Given the description of an element on the screen output the (x, y) to click on. 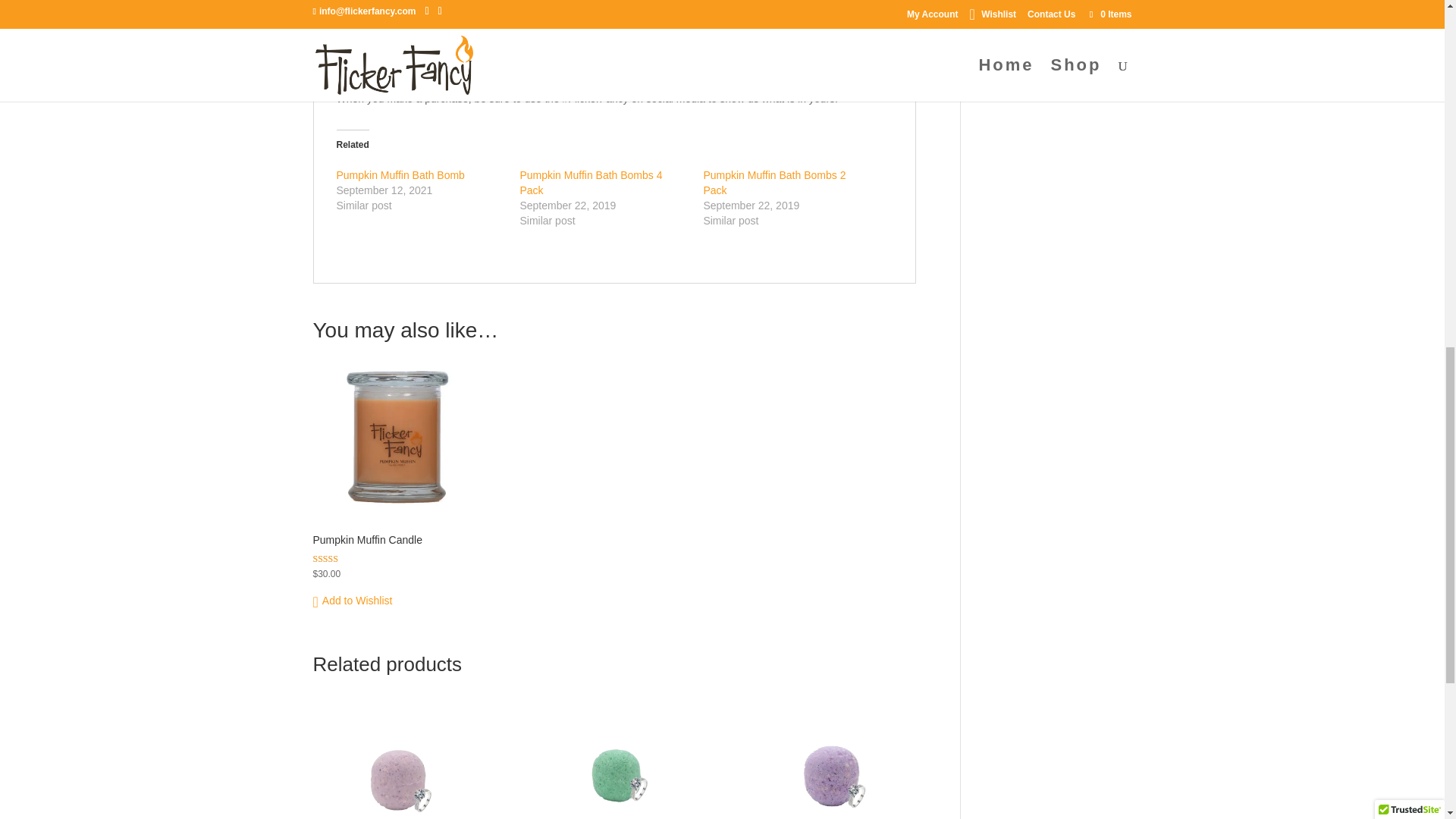
Pumpkin Muffin Bath Bomb (400, 174)
Pumpkin Muffin Bath Bombs 4 Pack (590, 182)
Pumpkin Muffin Bath Bomb (400, 174)
Pumpkin Muffin Bath Bombs 2 Pack (774, 182)
Add to Wishlist (352, 601)
Pumpkin Muffin Bath Bombs 4 Pack (590, 182)
Pumpkin Muffin Bath Bombs 2 Pack (774, 182)
